Given the description of an element on the screen output the (x, y) to click on. 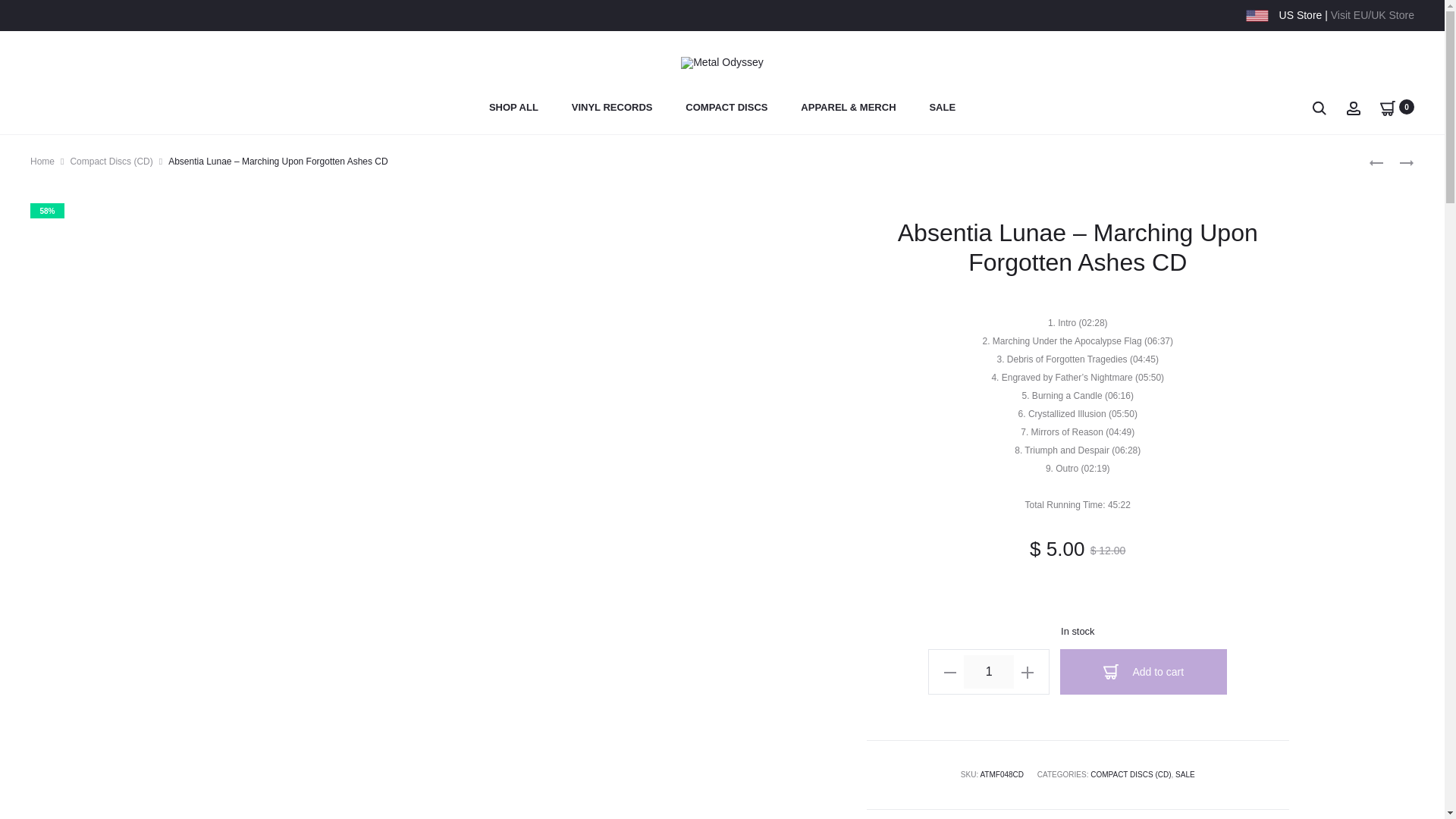
SALE (941, 107)
SHOP ALL (513, 107)
COMPACT DISCS (726, 107)
Qty (988, 671)
VINYL RECORDS (612, 107)
SALE (1184, 774)
Home (42, 161)
Add to cart (1143, 671)
0 (1387, 106)
1 (988, 671)
